Given the description of an element on the screen output the (x, y) to click on. 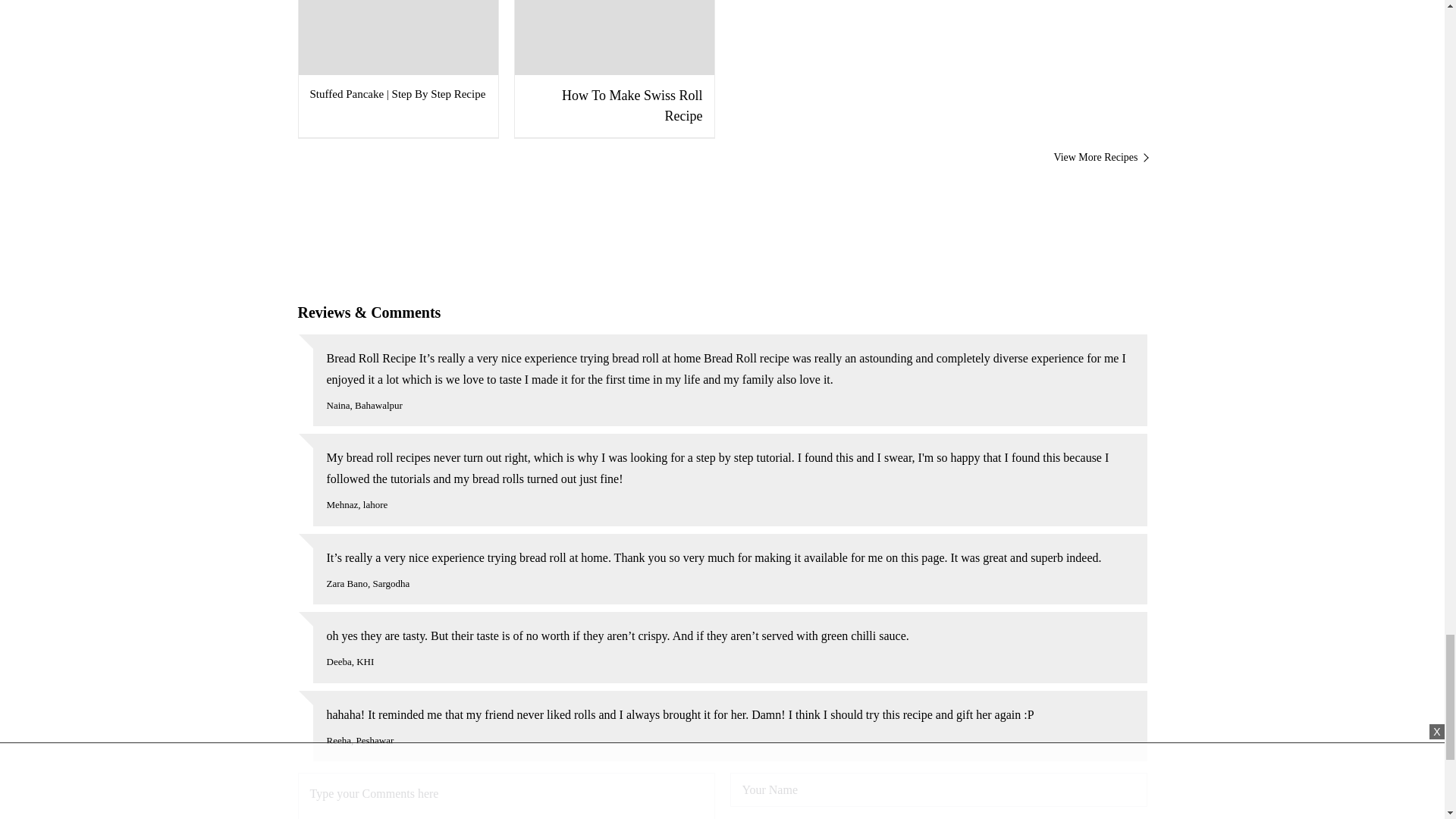
How To Make Swiss Roll Recipe (613, 68)
How To Make Swiss Roll Recipe (613, 68)
View More Recipes (722, 157)
